Given the description of an element on the screen output the (x, y) to click on. 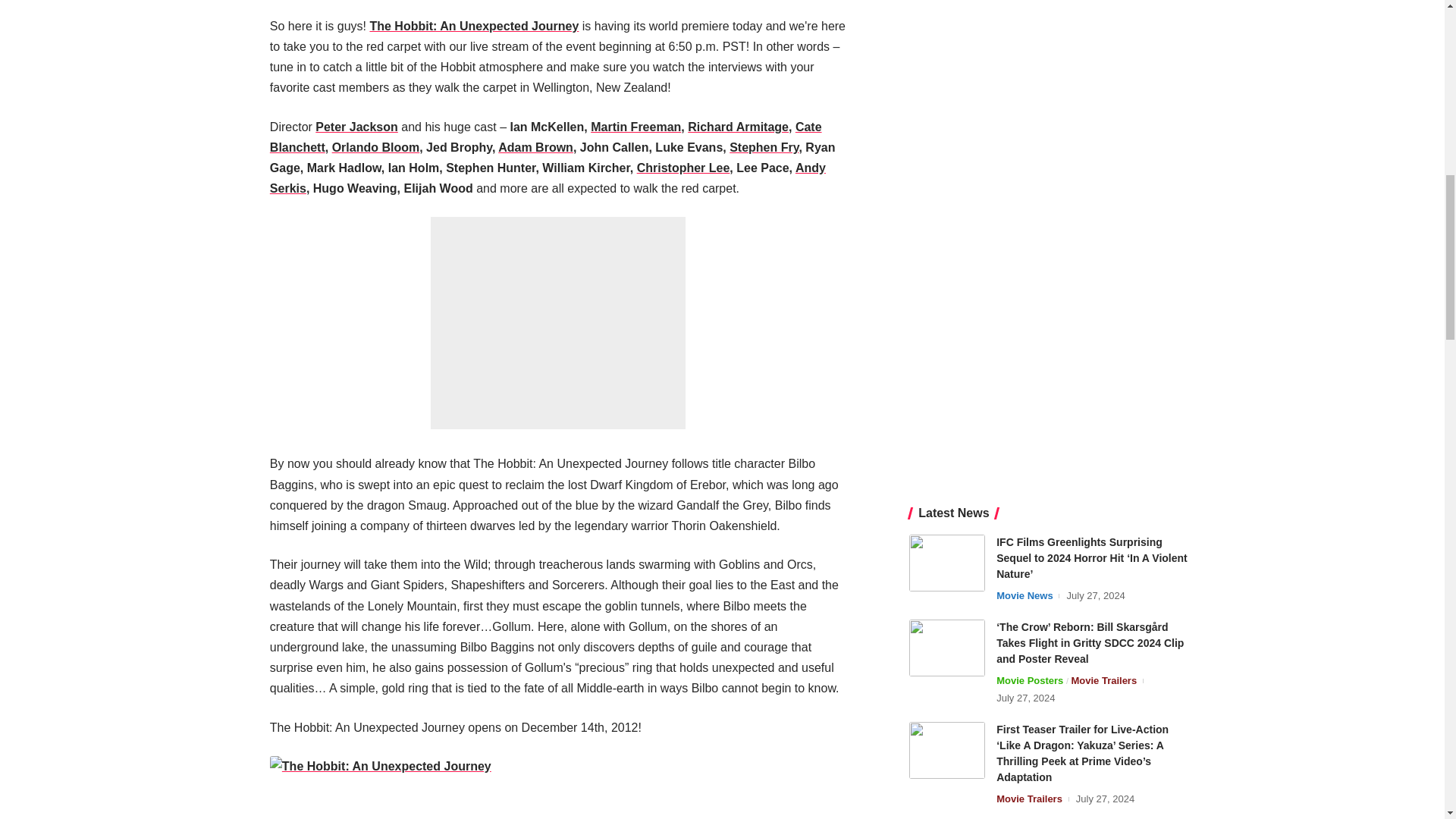
Posts tagged with Peter Jackson (356, 126)
Posts tagged with Andy Serkis (547, 177)
Posts tagged with Martin Freeman (636, 126)
Posts tagged with Adam Brown (535, 146)
Posts tagged with Orlando Bloom (375, 146)
Posts tagged with Cate Blanchett (545, 136)
Posts tagged with Christopher Lee (683, 167)
Posts tagged with Richard Armitage (738, 126)
Posts tagged with Stephen Fry (763, 146)
Posts tagged with The Hobbit: An Unexpected Journey (473, 25)
